Given the description of an element on the screen output the (x, y) to click on. 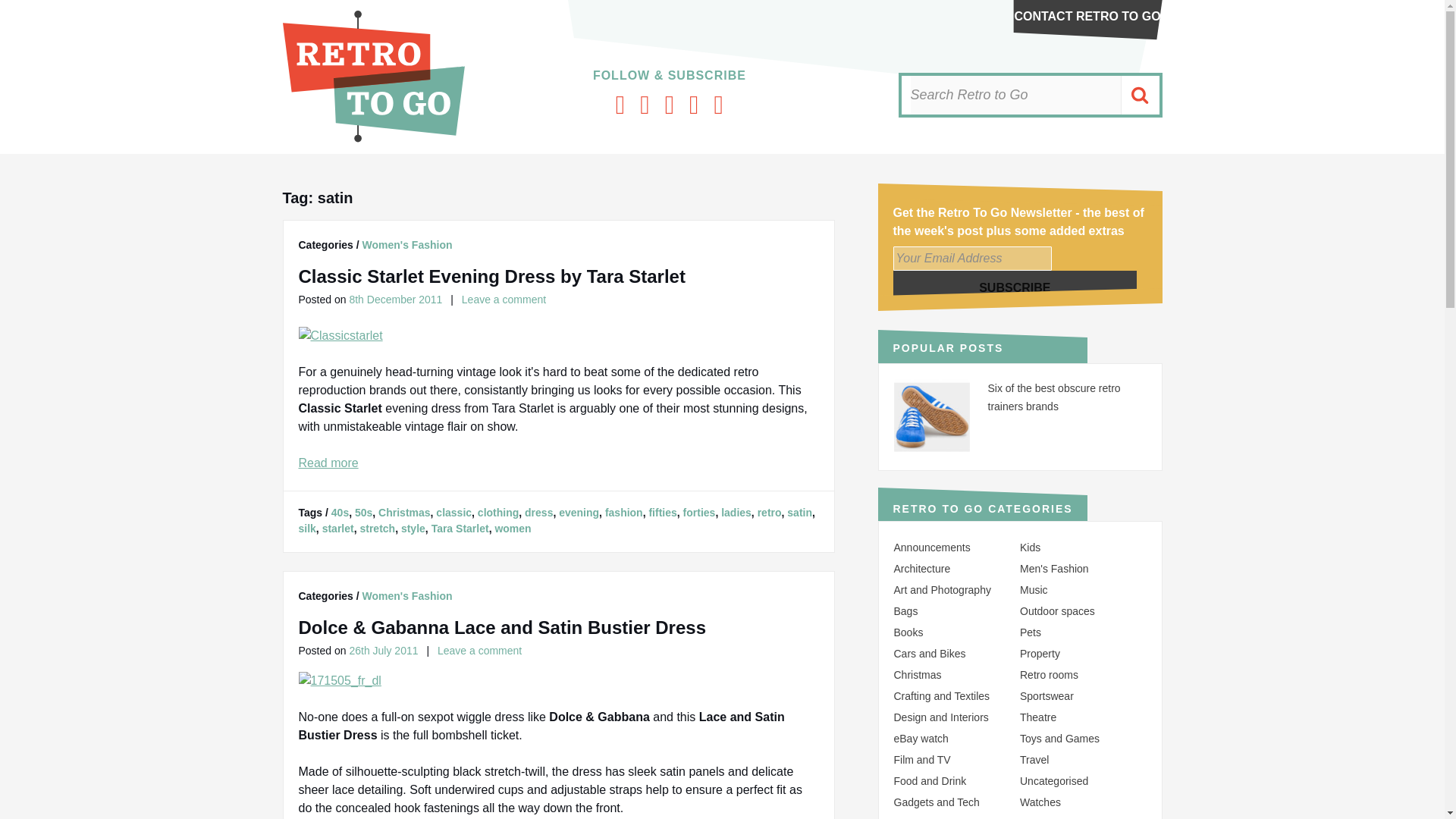
Christmas (403, 512)
Search (1139, 95)
Leave a comment (503, 299)
forties (699, 512)
stretch (376, 528)
classic (453, 512)
Women's Fashion (407, 244)
ladies (735, 512)
silk (306, 528)
Classic Starlet Evening Dress by Tara Starlet (491, 276)
CONTACT RETRO TO GO (1086, 15)
evening (578, 512)
fifties (662, 512)
retro (769, 512)
